Given the description of an element on the screen output the (x, y) to click on. 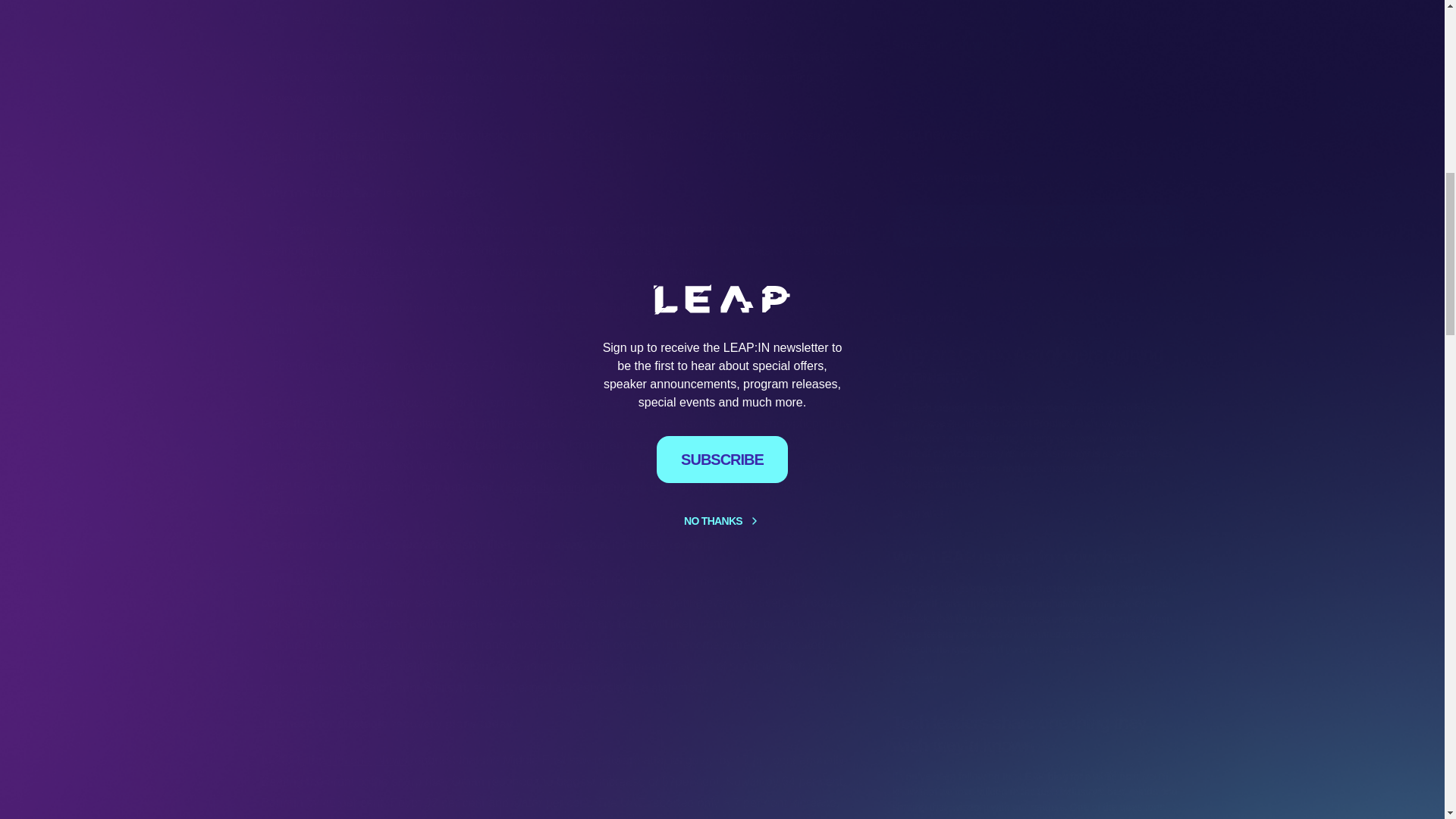
Inside Out Security (382, 134)
Why LEAP is good for your brain (1036, 83)
Kapersky.com (542, 486)
IRONSCALES (365, 271)
National News (367, 759)
